Given the description of an element on the screen output the (x, y) to click on. 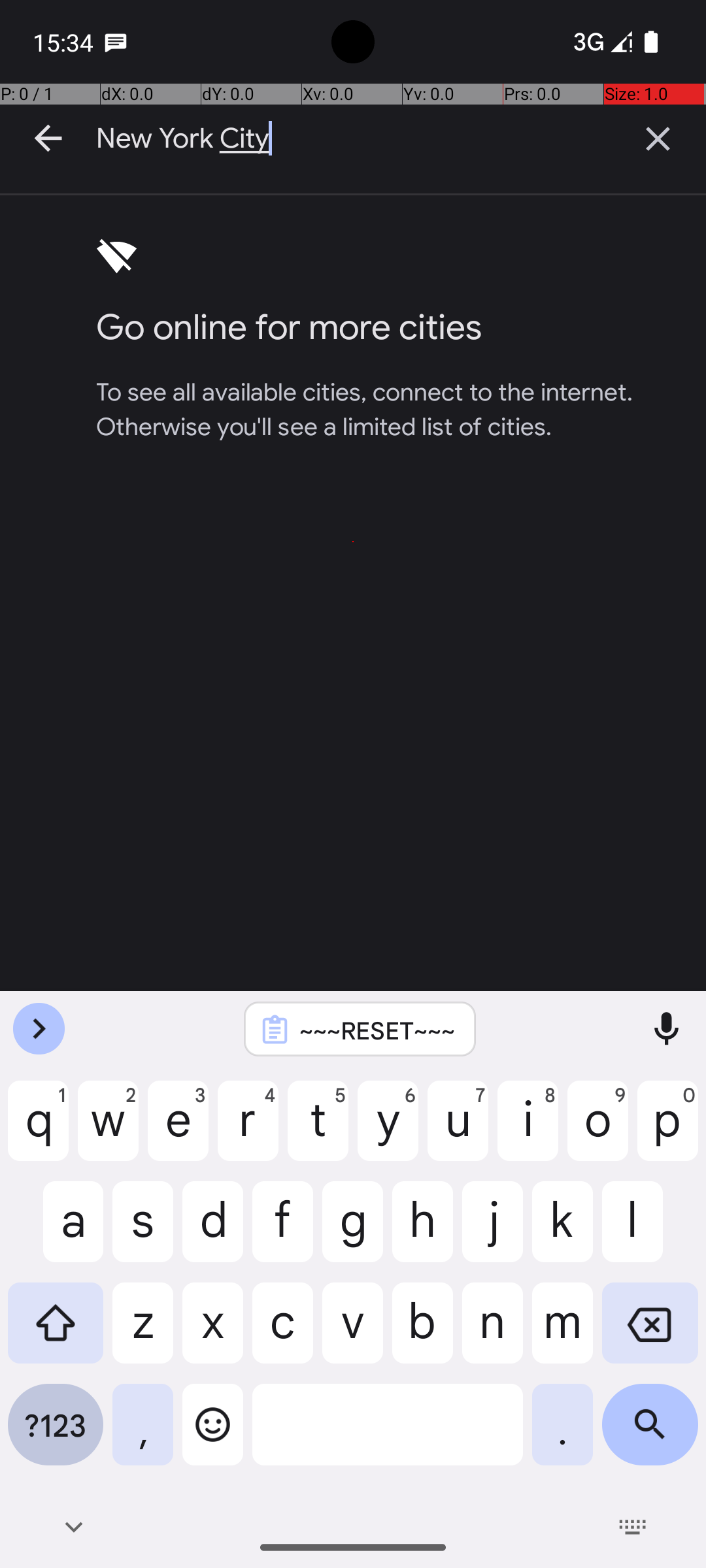
New York City Element type: android.widget.EditText (352, 138)
Clear text Element type: android.widget.ImageButton (657, 138)
Search for a city Element type: android.widget.TextView (353, 541)
SMS Messenger notification: Freya Hernandez Element type: android.widget.ImageView (115, 41)
